Given the description of an element on the screen output the (x, y) to click on. 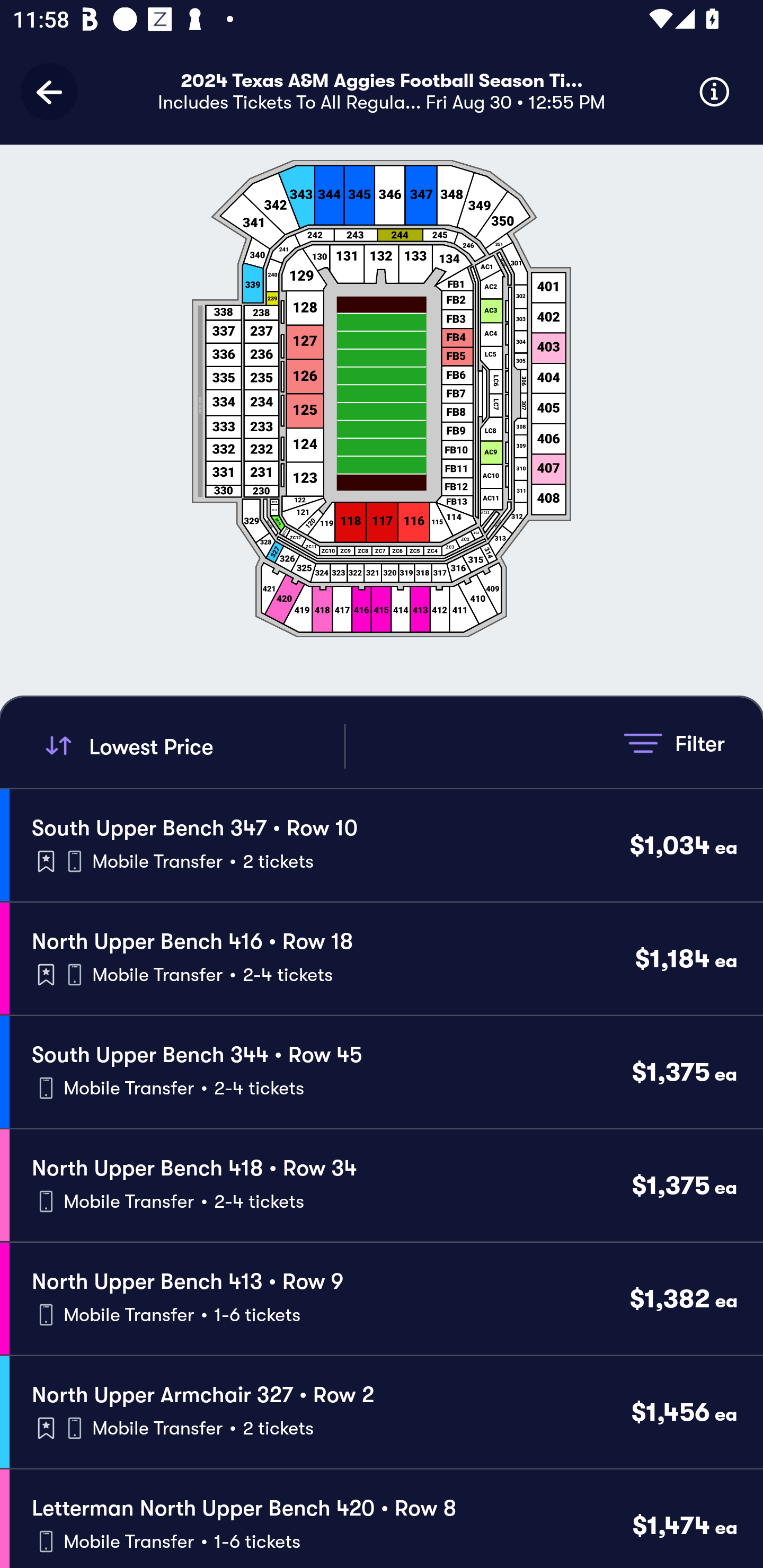
Lowest Price (191, 746)
Filter (674, 743)
